Given the description of an element on the screen output the (x, y) to click on. 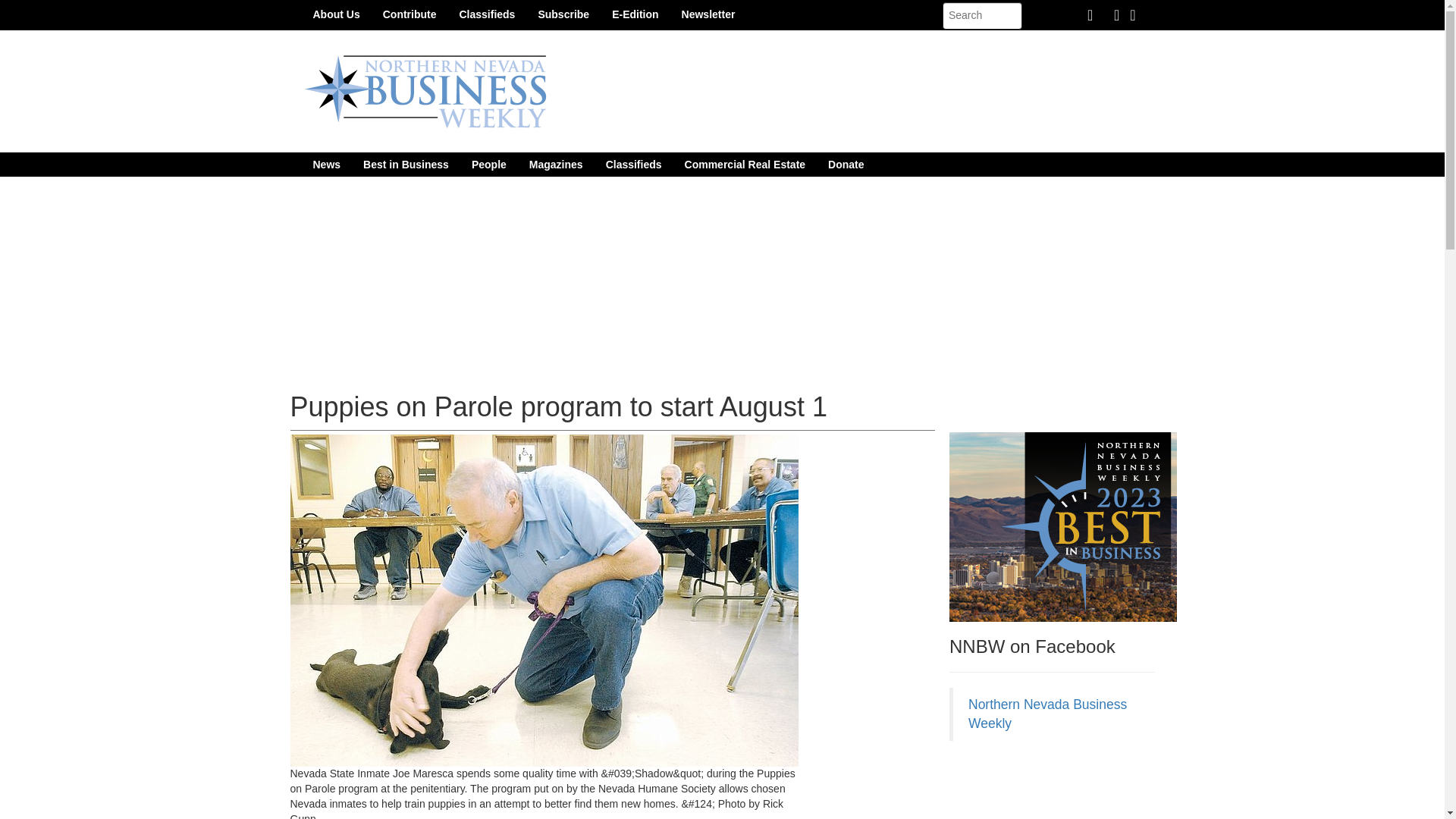
About Us (336, 14)
3rd party ad content (1062, 787)
People (489, 164)
Newsletter (707, 14)
Contribute (409, 14)
Magazines (556, 164)
Classifieds (633, 164)
Subscribe (562, 14)
E-Edition (634, 14)
Donate (845, 164)
Classifieds (485, 14)
Commercial Real Estate (744, 164)
Best in Business (406, 164)
News (326, 164)
